Given the description of an element on the screen output the (x, y) to click on. 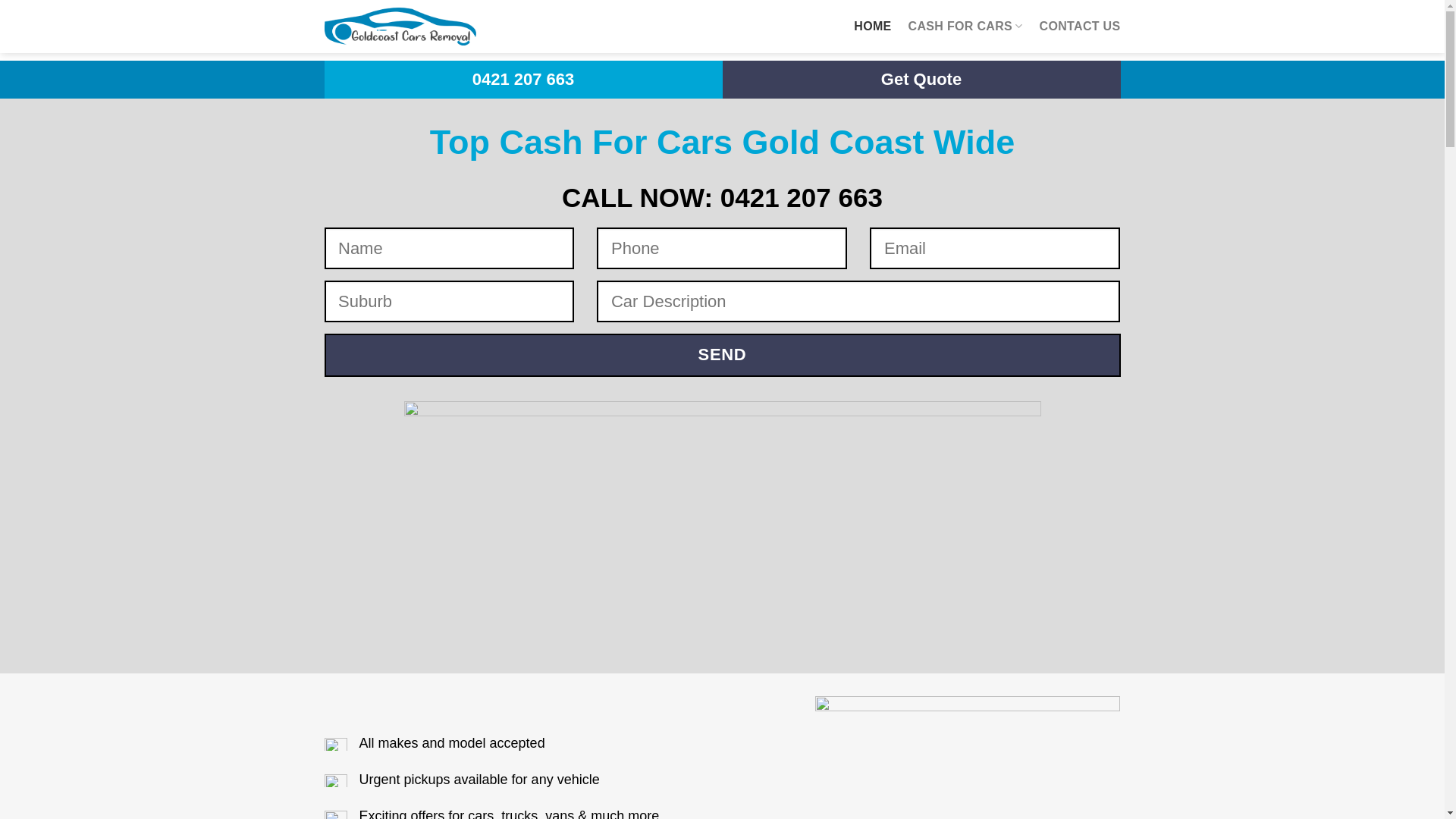
Gold Coast Cars Removal Element type: hover (400, 25)
Get Quote Element type: text (921, 79)
0421 207 663 Element type: text (522, 79)
Send Element type: text (722, 354)
Skip to content Element type: text (0, 0)
0421 207 663 Element type: text (801, 196)
CASH FOR CARS Element type: text (965, 26)
CONTACT US Element type: text (1079, 26)
HOME Element type: text (872, 26)
